Given the description of an element on the screen output the (x, y) to click on. 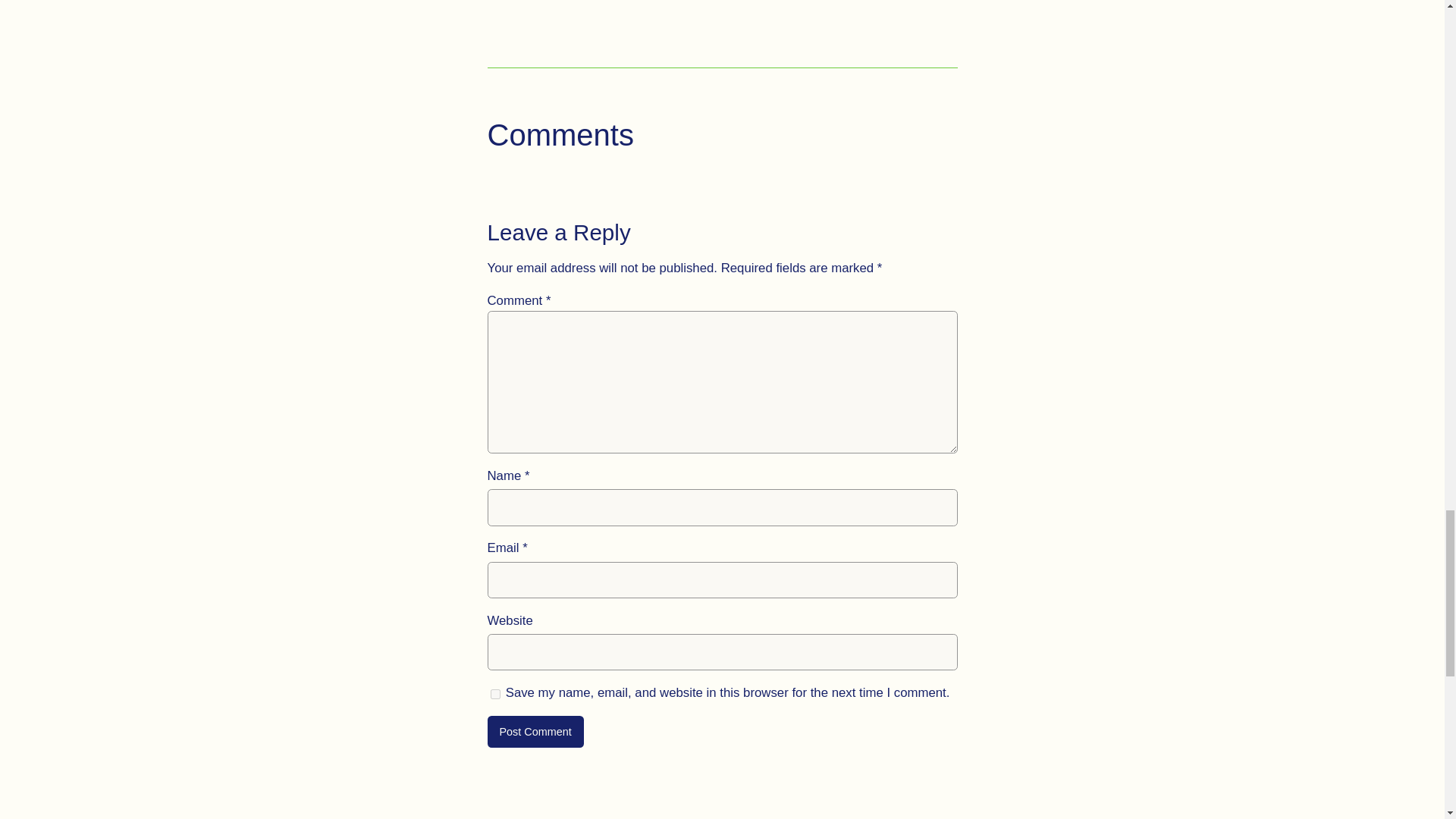
Post Comment (534, 731)
Post Comment (534, 731)
